Given the description of an element on the screen output the (x, y) to click on. 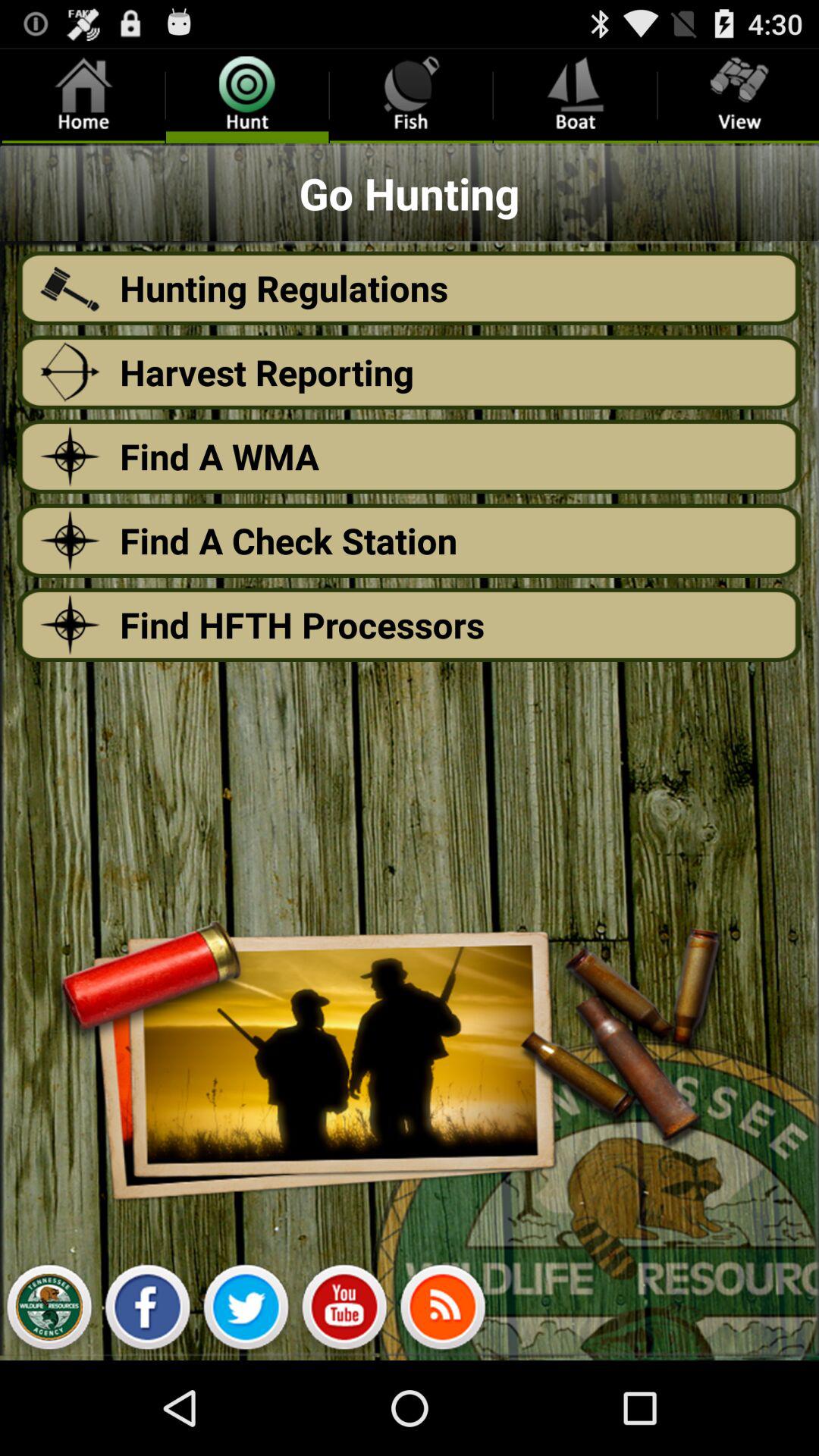
click twitter icon (245, 1311)
